Given the description of an element on the screen output the (x, y) to click on. 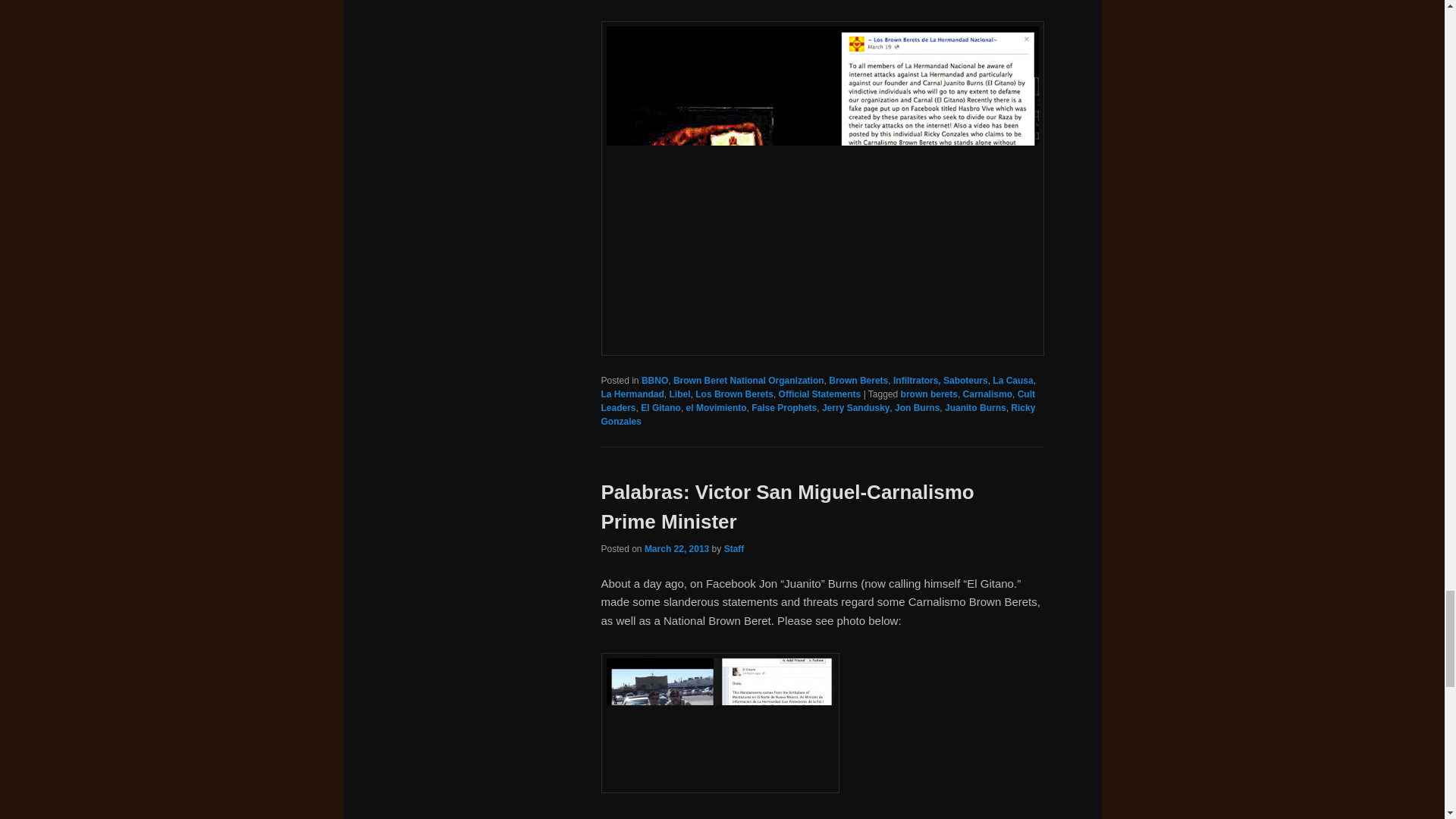
View all posts by Staff (733, 548)
8:00 pm (677, 548)
slanderousburns (718, 722)
